Given the description of an element on the screen output the (x, y) to click on. 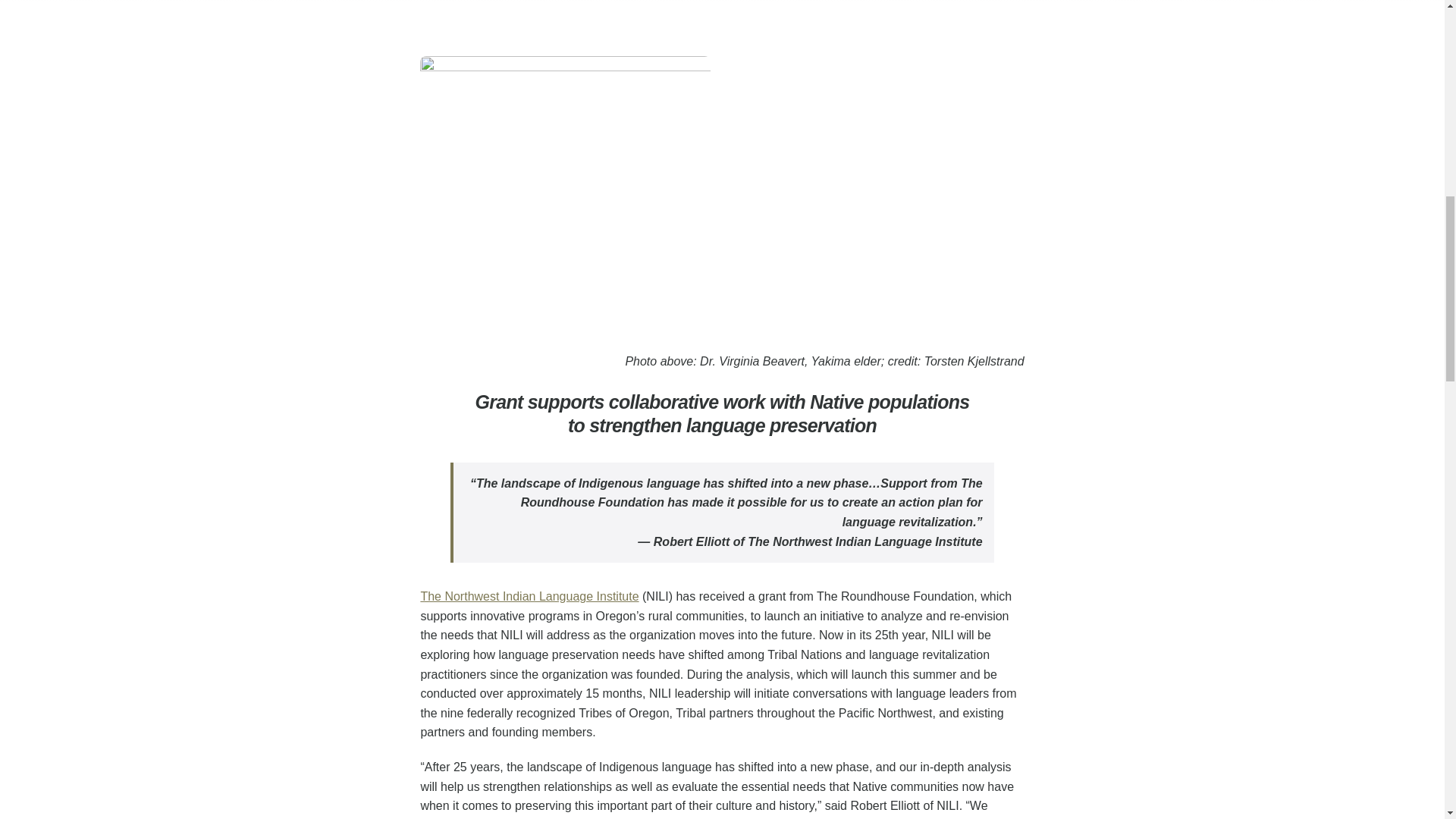
nili-logo (565, 192)
